Given the description of an element on the screen output the (x, y) to click on. 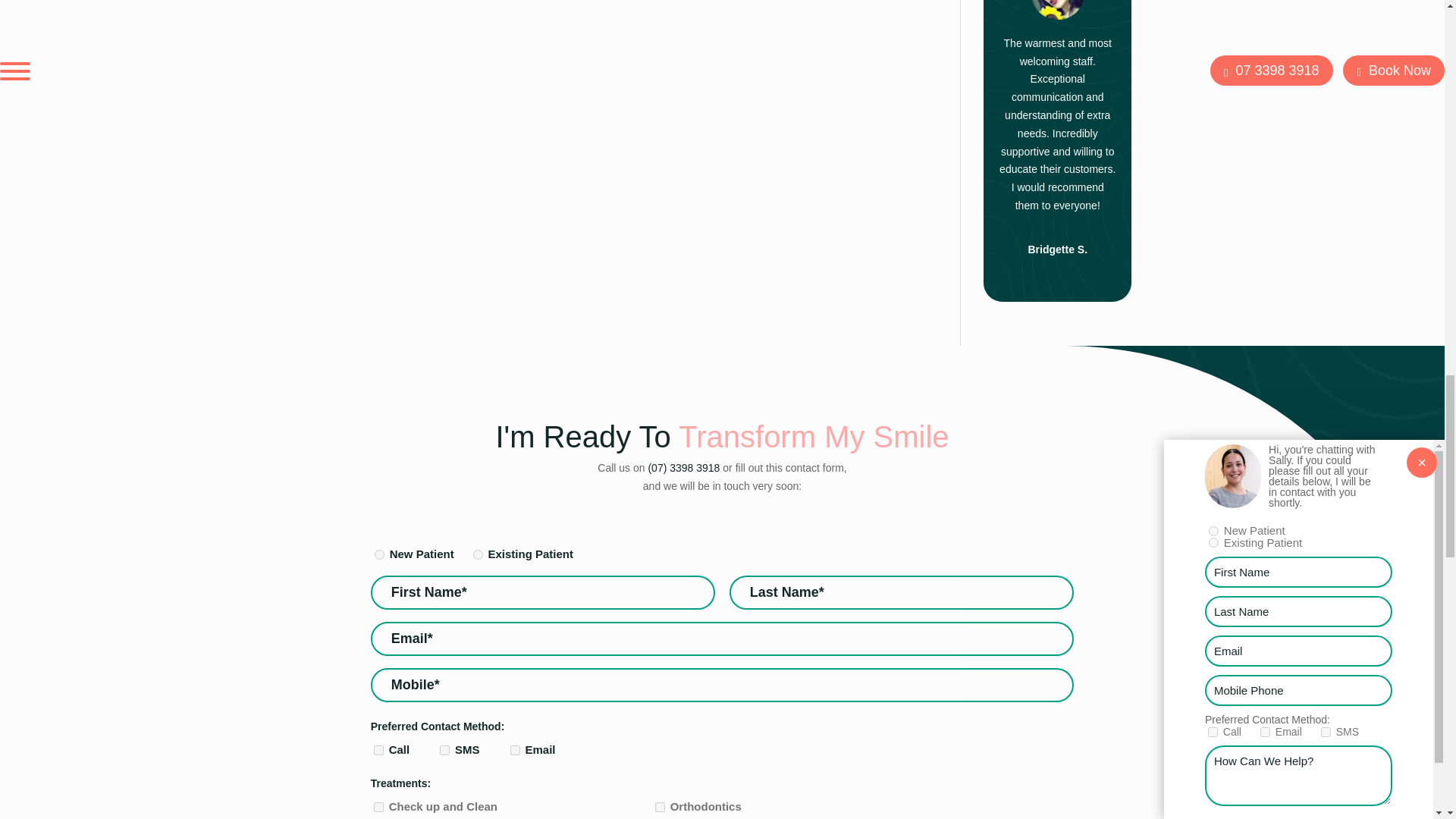
New Patient (379, 554)
Existing Patient (478, 554)
